Given the description of an element on the screen output the (x, y) to click on. 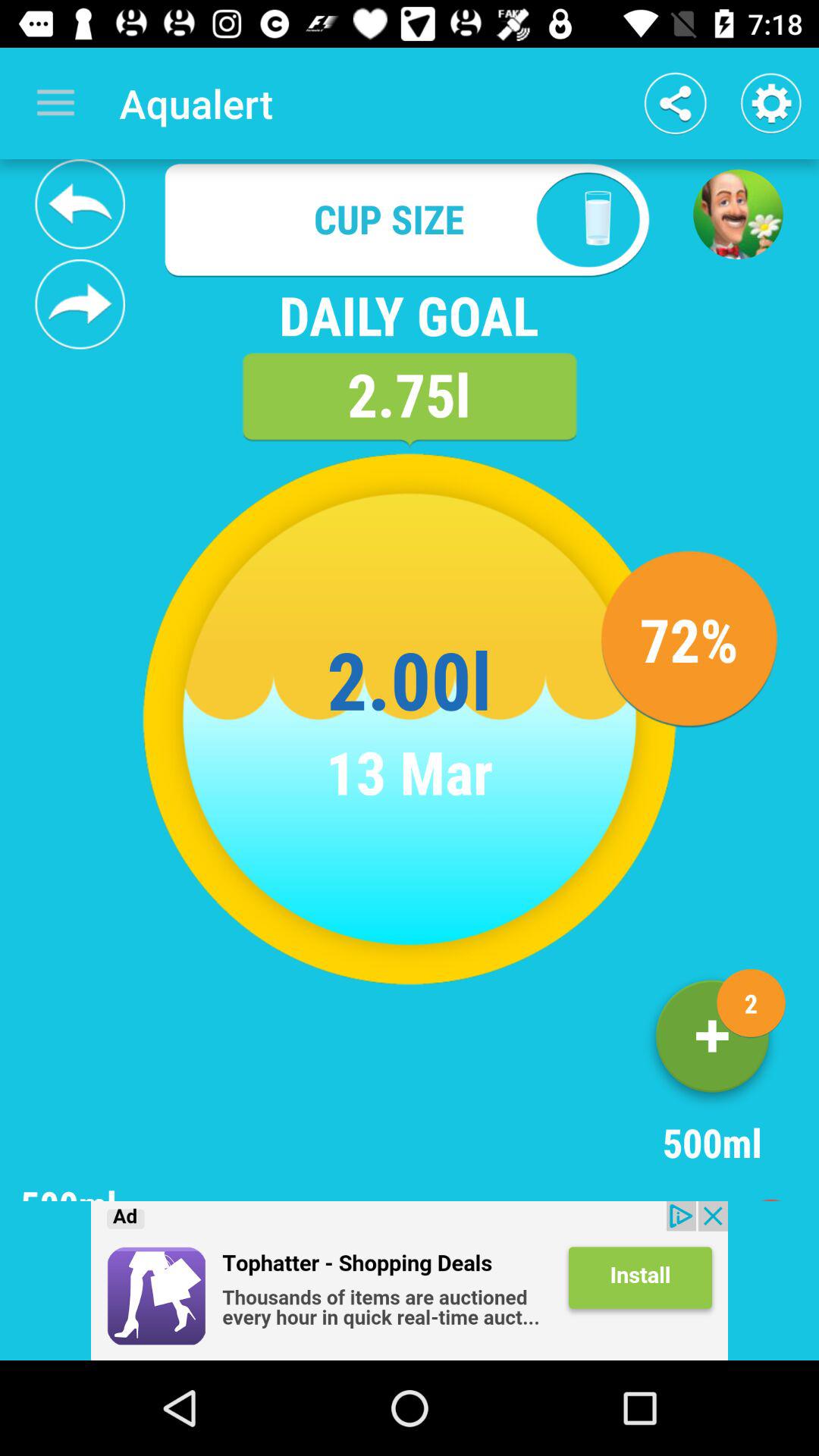
exit page (781, 1190)
